Given the description of an element on the screen output the (x, y) to click on. 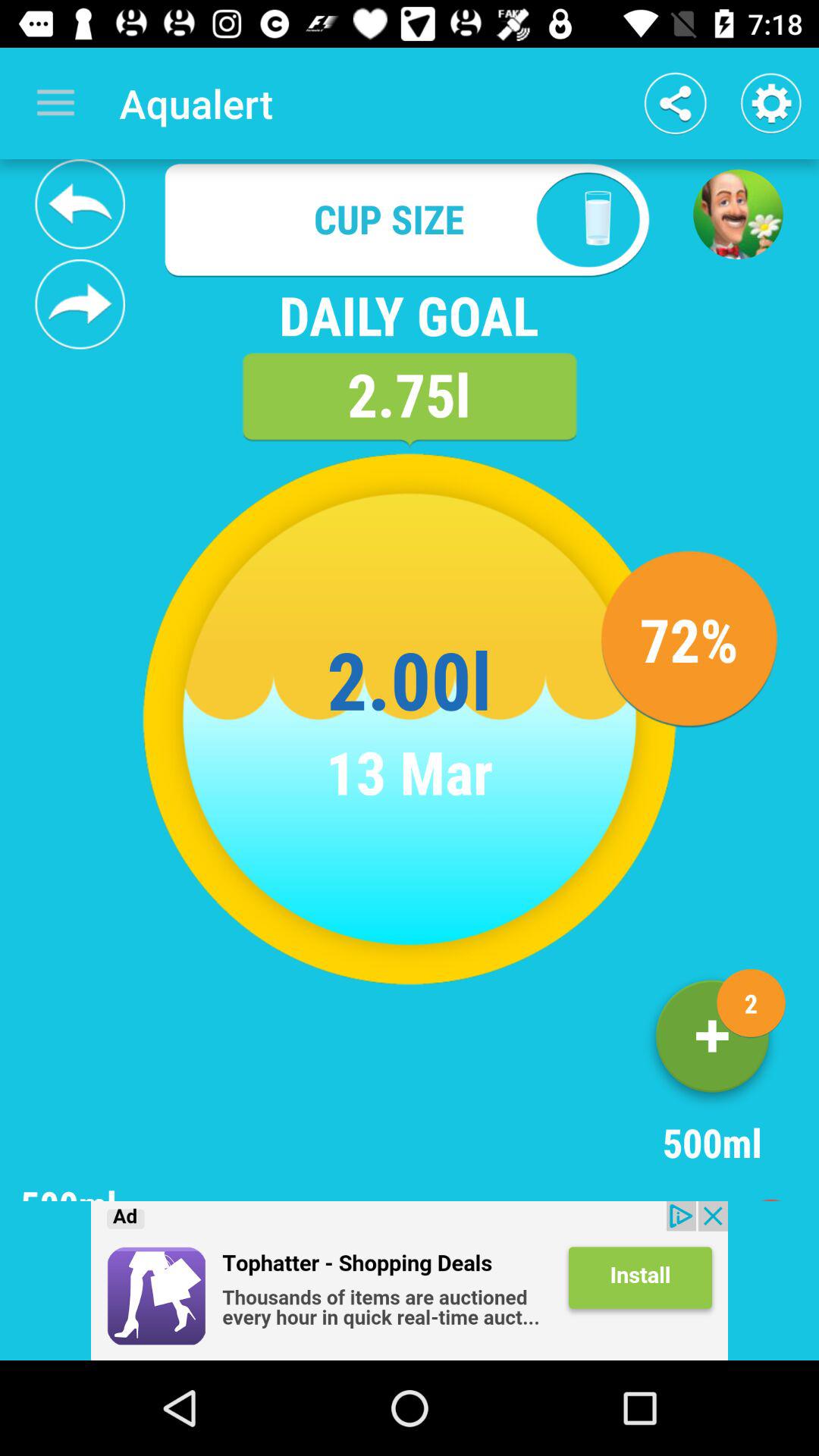
exit page (781, 1190)
